Given the description of an element on the screen output the (x, y) to click on. 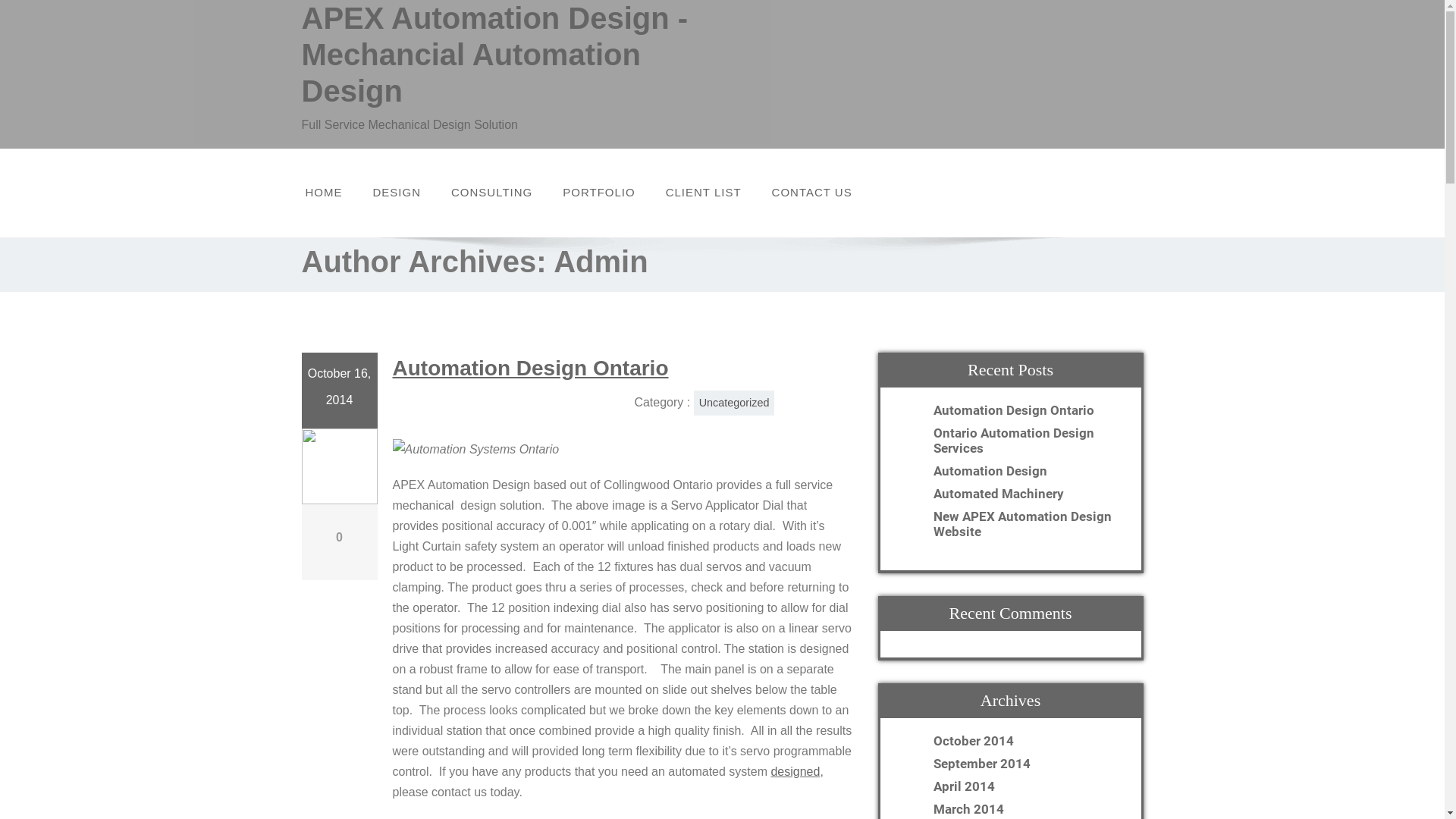
Automated Machinery Element type: text (1025, 492)
New APEX Automation Design Website Element type: text (1025, 523)
Automation Design Ontario Element type: text (530, 367)
DESIGN Element type: text (396, 192)
CONSULTING Element type: text (491, 192)
CLIENT LIST Element type: text (703, 192)
HOME Element type: text (323, 192)
0 Element type: text (338, 536)
Ontario Automation Design Services Element type: text (1025, 439)
April 2014 Element type: text (959, 785)
APEX Automation Design - Mechancial Automation Design Element type: text (506, 54)
designed Element type: text (794, 771)
October 2014 Element type: text (969, 739)
CONTACT US Element type: text (811, 192)
PORTFOLIO Element type: text (598, 192)
Uncategorized Element type: text (734, 402)
March 2014 Element type: text (964, 807)
September 2014 Element type: text (977, 762)
Automation Design Ontario Element type: text (1025, 409)
Automation Design Element type: text (1025, 469)
